Given the description of an element on the screen output the (x, y) to click on. 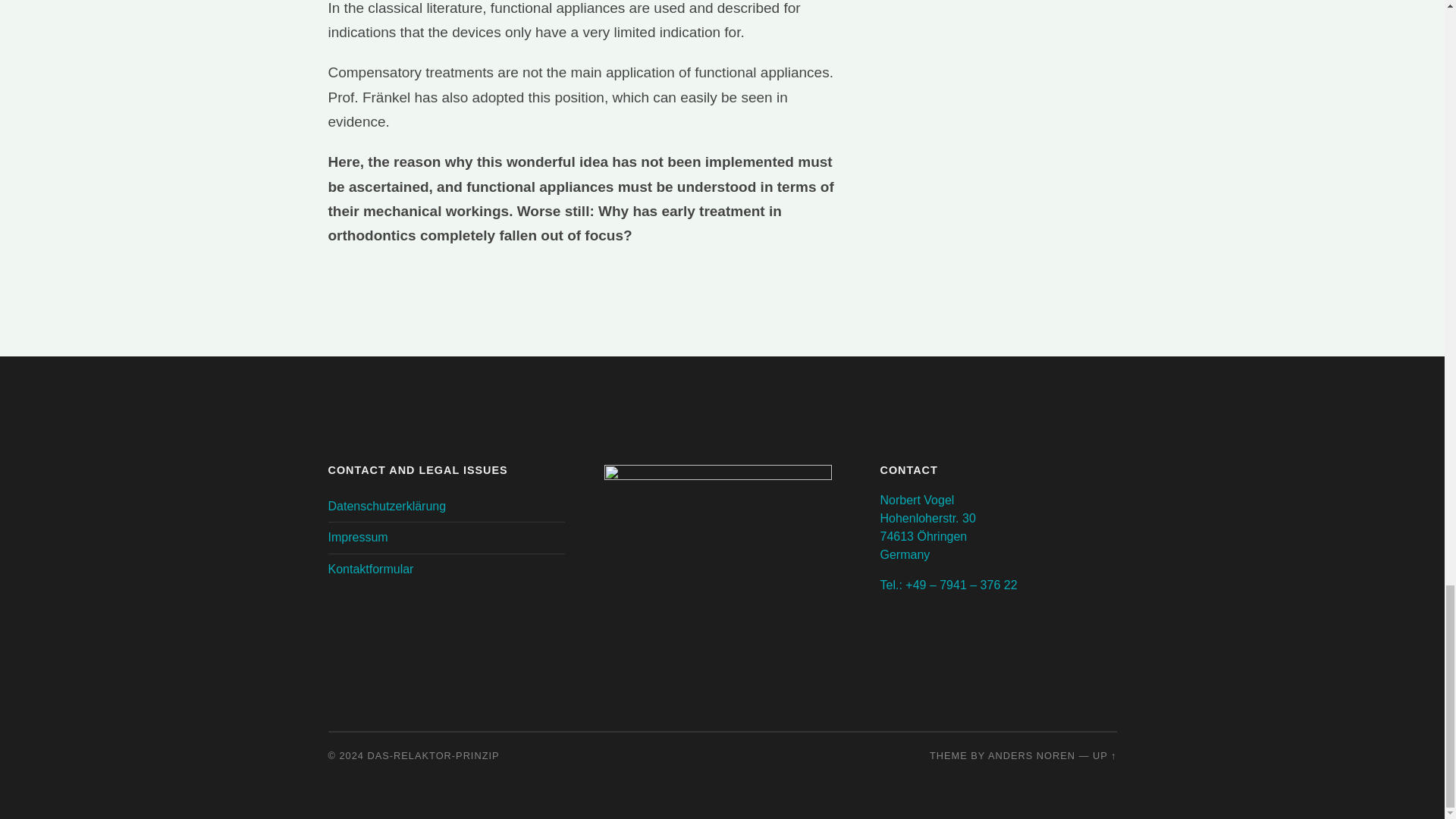
To the top (1104, 755)
